Given the description of an element on the screen output the (x, y) to click on. 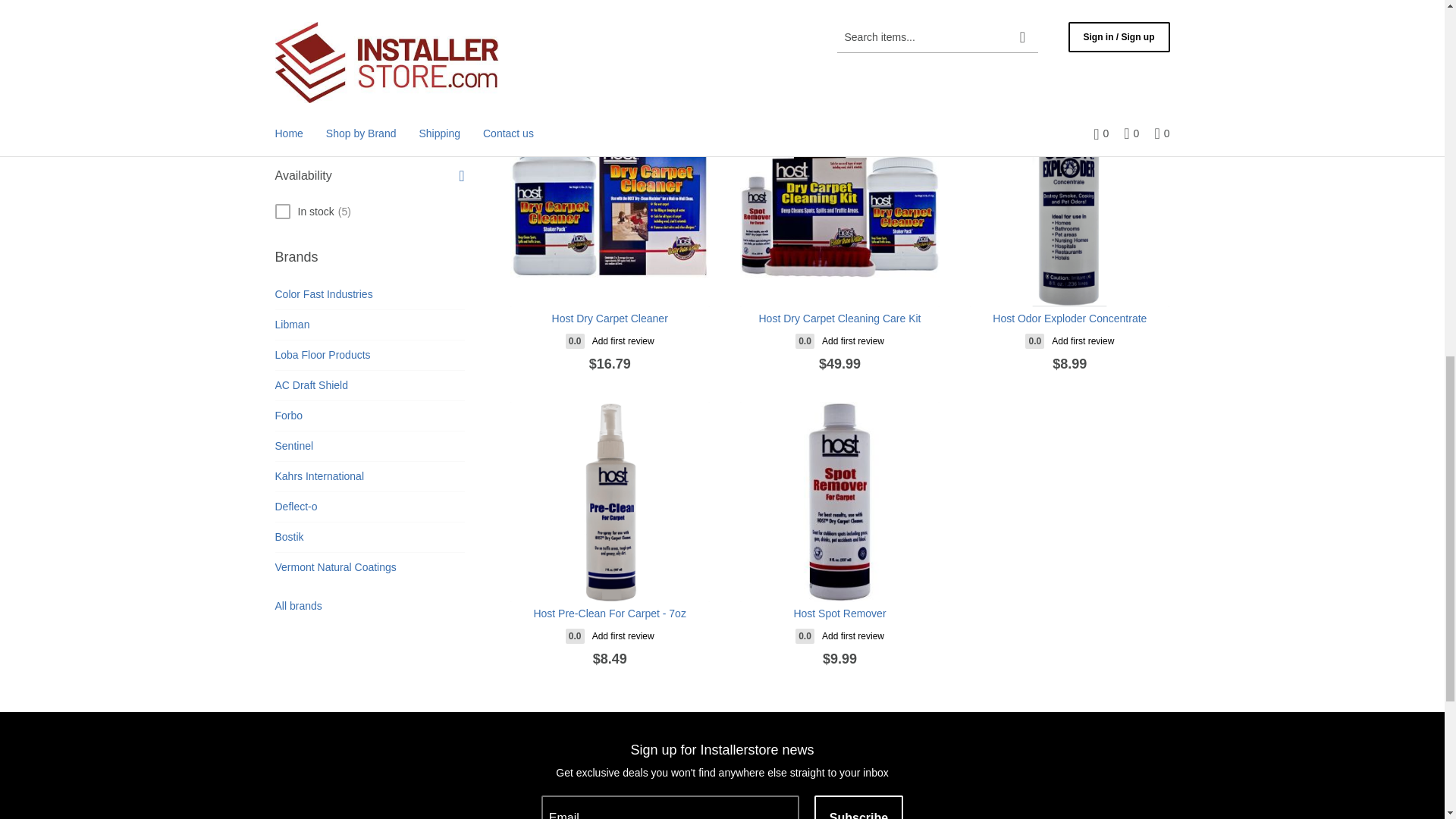
on (282, 4)
on (282, 211)
on (282, 21)
